Given the description of an element on the screen output the (x, y) to click on. 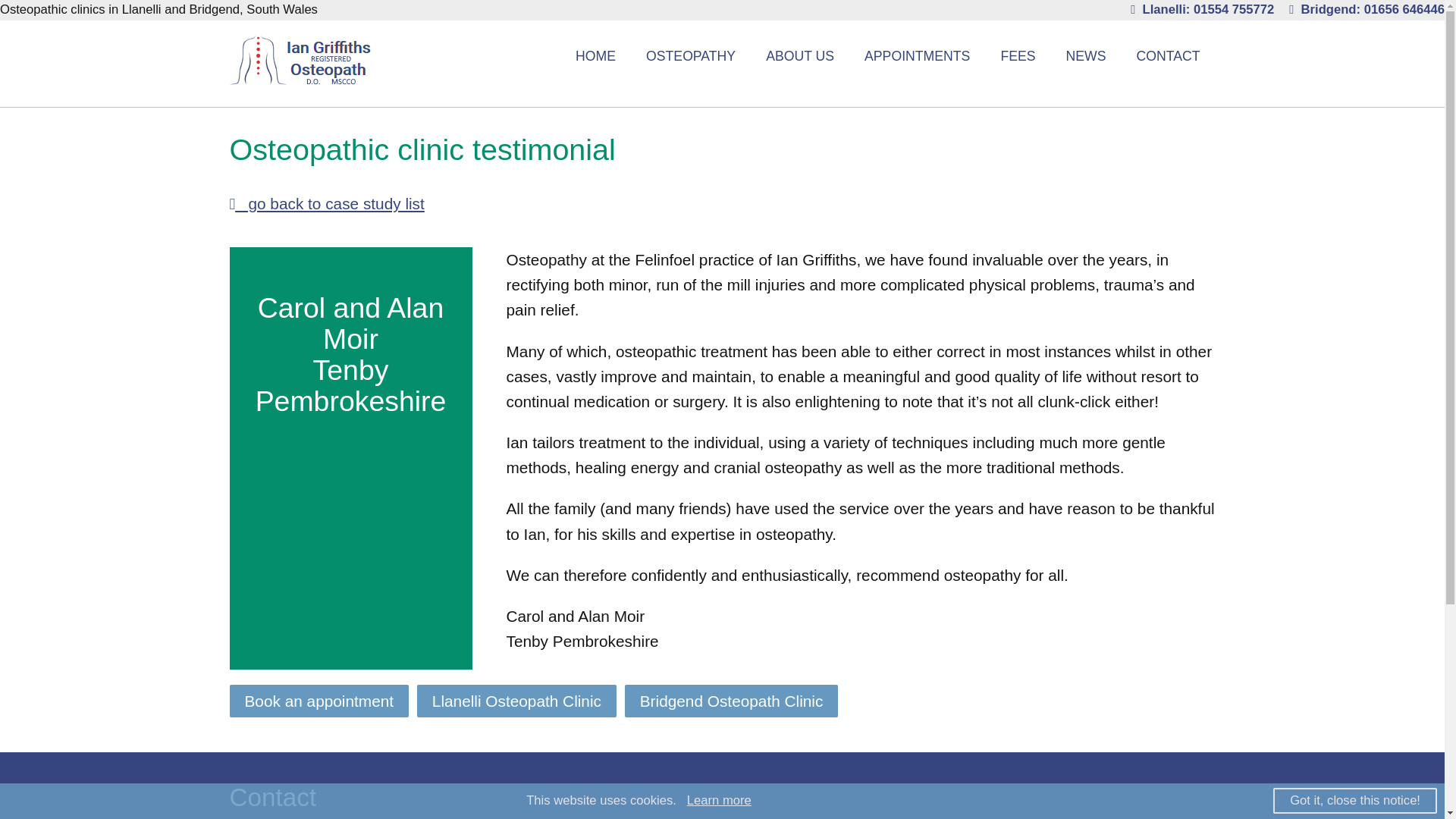
OSTEOPATHY (690, 56)
Learn more (719, 800)
CONTACT (1167, 56)
NEWS (1086, 56)
Bridgend Osteopath Clinic (731, 700)
Llanelli Osteopath Clinic (515, 700)
HOME (595, 56)
APPOINTMENTS (916, 56)
Book an appointment (318, 700)
Got it, close this notice! (1354, 800)
   go back to case study list (325, 203)
FEES (1017, 56)
ABOUT US (799, 56)
Ian Griffiths Osteopath in Bridgend and Llanelli (298, 78)
